Given the description of an element on the screen output the (x, y) to click on. 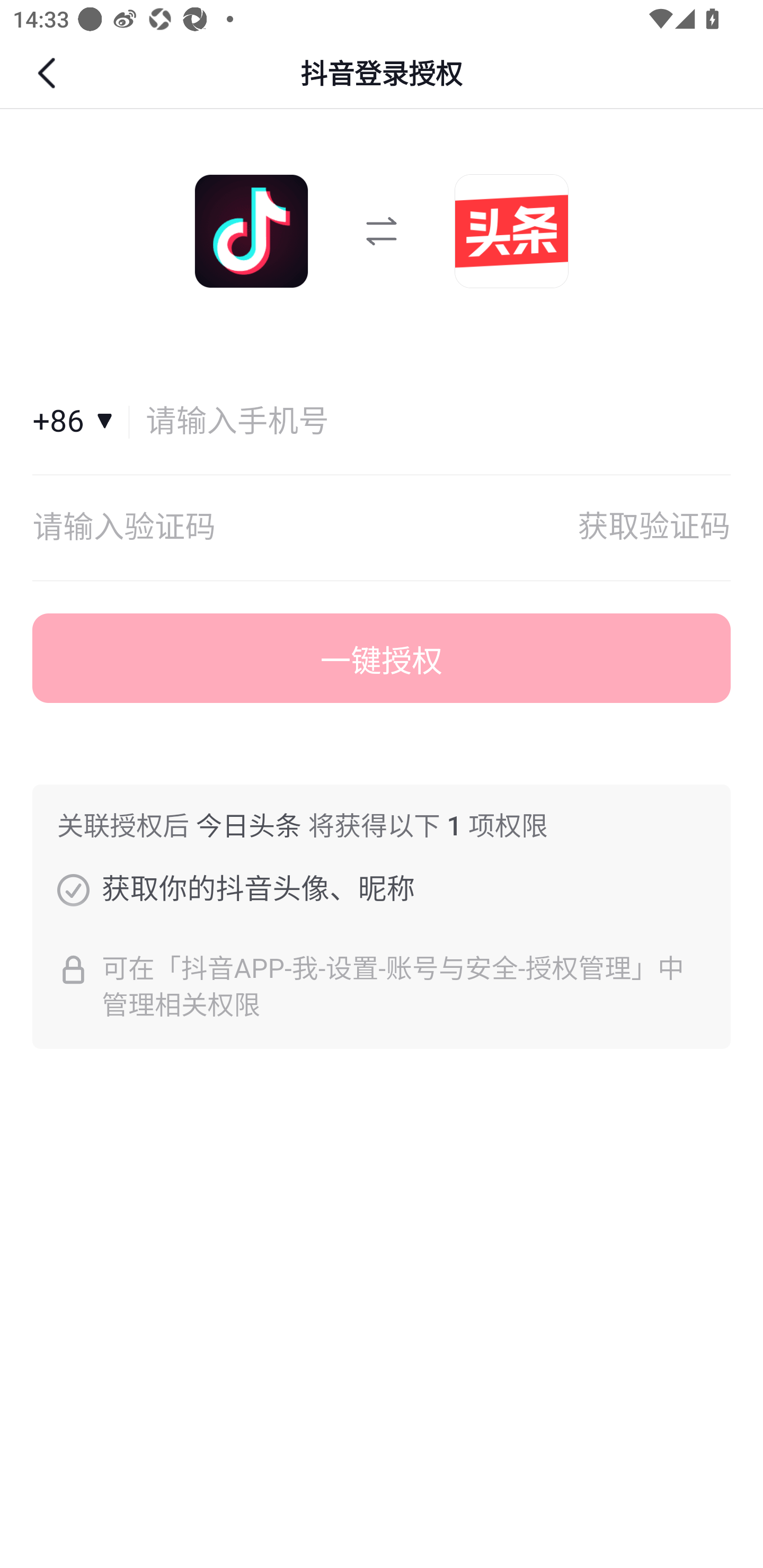
返回 (49, 72)
国家和地区+86 (81, 421)
获取验证码 (653, 527)
一键授权 (381, 658)
获取你的抖音头像、昵称 (72, 889)
